Given the description of an element on the screen output the (x, y) to click on. 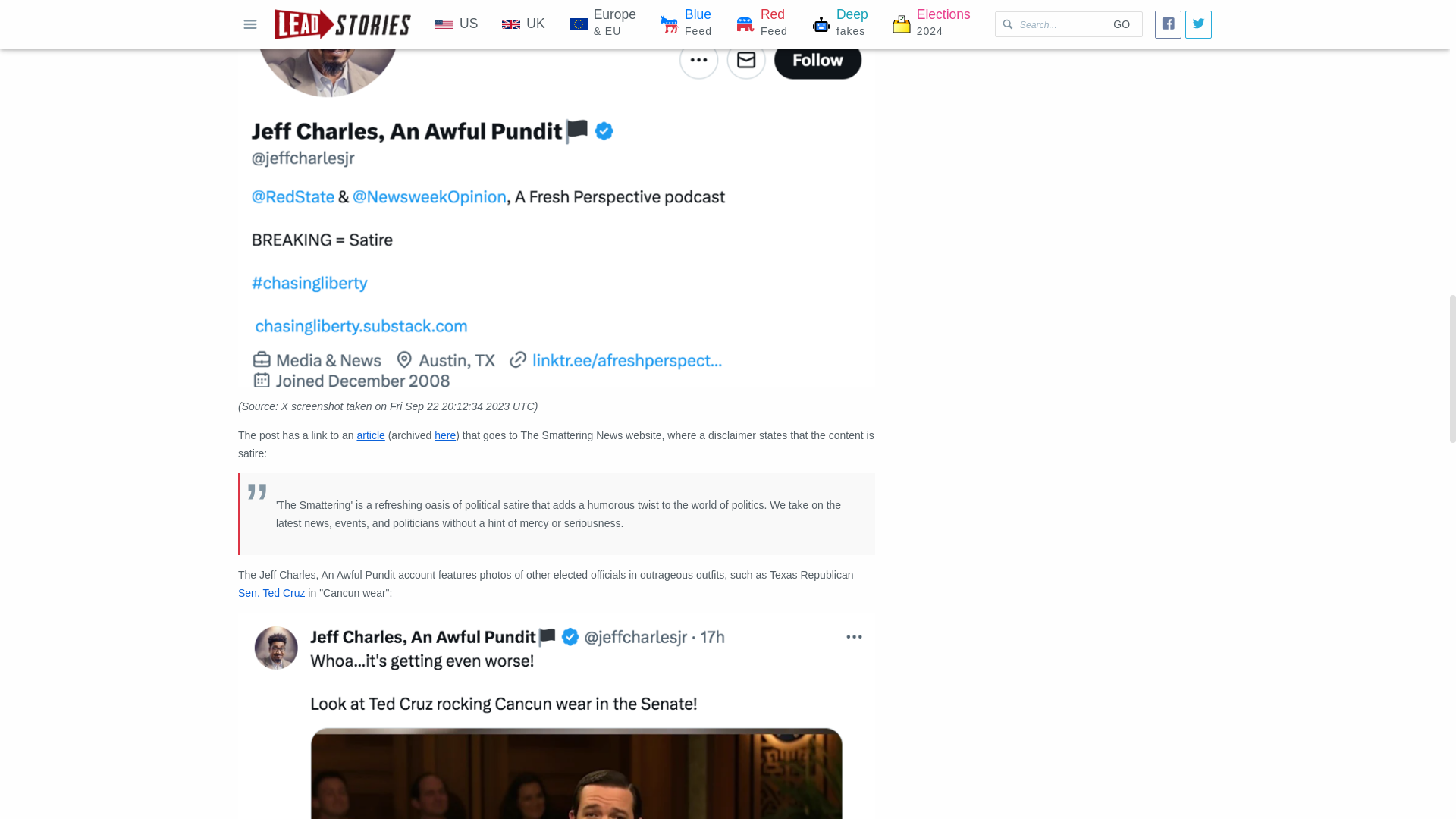
Sen. Ted Cruz (271, 592)
article (370, 435)
here (444, 435)
